Given the description of an element on the screen output the (x, y) to click on. 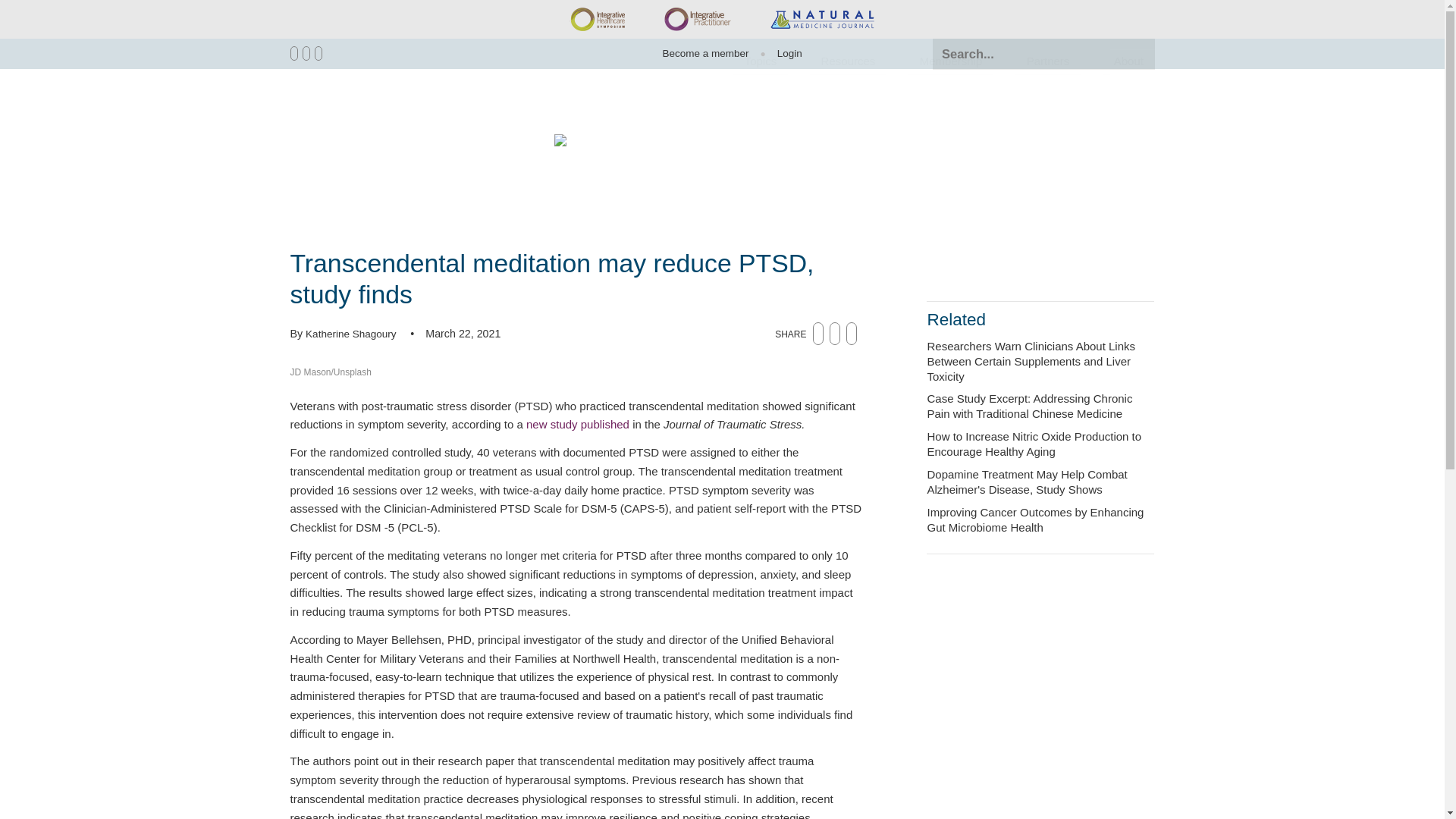
Membership (950, 62)
About (1128, 62)
Login (783, 52)
Partners (1047, 62)
Topics (760, 62)
Become a member (705, 52)
Resources (847, 62)
